Given the description of an element on the screen output the (x, y) to click on. 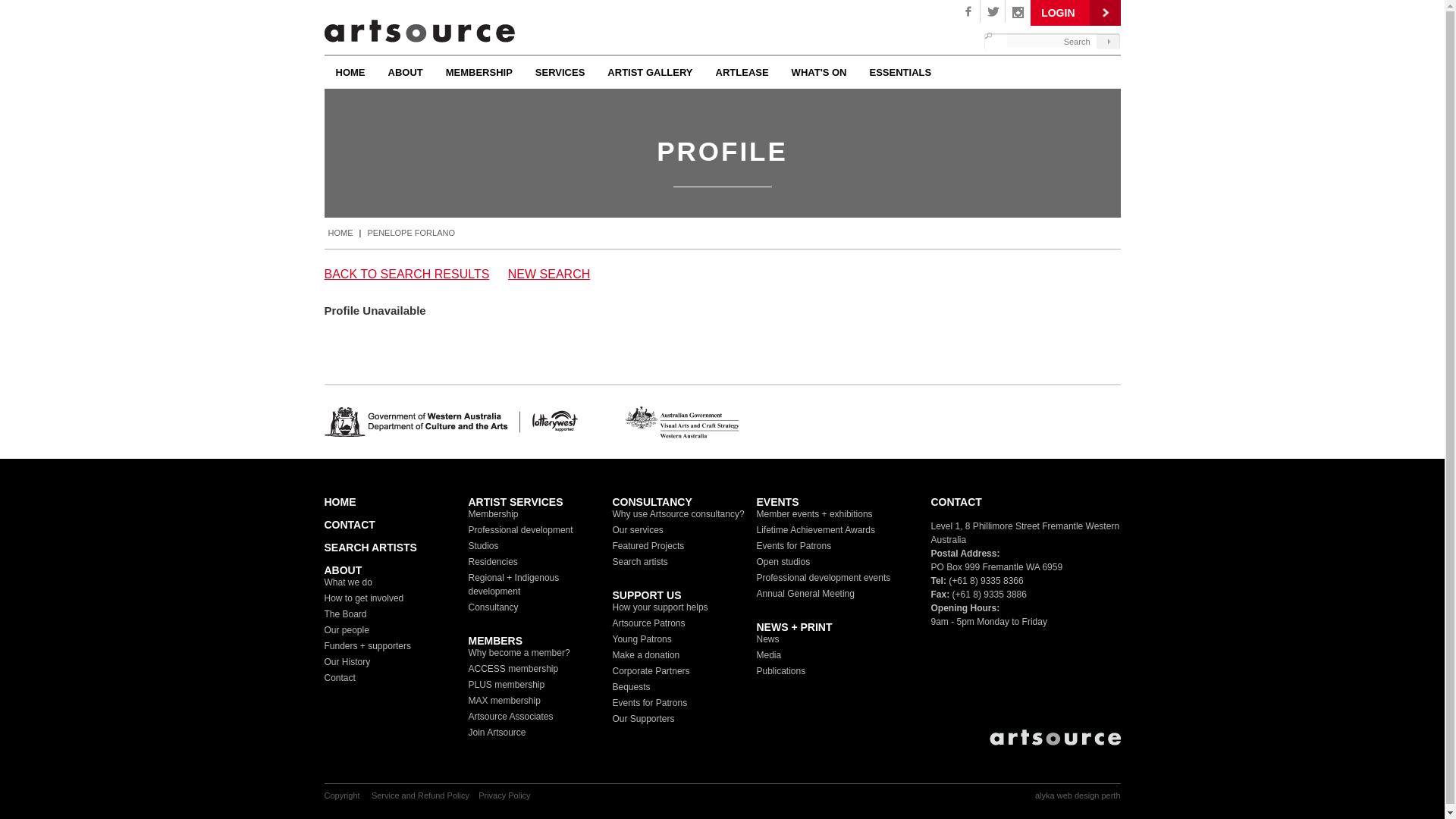
How to get involved Element type: text (364, 598)
Artsource Patrons Element type: text (648, 623)
Linken Element type: text (1017, 11)
Media Element type: text (768, 654)
EVENTS Element type: text (777, 501)
Studios Element type: text (483, 545)
Residencies Element type: text (492, 561)
Our Supporters Element type: text (643, 718)
WHAT'S ON Element type: text (819, 71)
BACK TO SEARCH RESULTS Element type: text (406, 273)
MEMBERSHIP Element type: text (479, 71)
Bequests Element type: text (631, 686)
NEWS + PRINT Element type: text (794, 627)
Join Artsource Element type: text (497, 732)
PLUS membership Element type: text (506, 684)
Professional development events Element type: text (823, 577)
CONTACT Element type: text (956, 501)
The Board Element type: text (345, 613)
ARTLEASE Element type: text (742, 71)
ACCESS membership Element type: text (513, 668)
Featured Projects Element type: text (648, 545)
PENELOPE FORLANO Element type: text (410, 232)
Facebook Element type: text (967, 11)
MAX membership Element type: text (504, 700)
LOGIN Element type: text (1075, 12)
Events for Patrons Element type: text (649, 702)
CONSULTANCY Element type: text (652, 501)
Regional + Indigenous development Element type: text (513, 584)
ARTIST GALLERY Element type: text (649, 71)
Events for Patrons Element type: text (793, 545)
Corporate Partners Element type: text (651, 670)
Our History Element type: text (347, 661)
Service and Refund Policy Element type: text (420, 795)
alyka web design perth Element type: text (1077, 795)
Annual General Meeting Element type: text (805, 593)
What we do Element type: text (348, 582)
NEW SEARCH Element type: text (548, 273)
Twitter Element type: text (992, 11)
SUPPORT US Element type: text (646, 595)
Young Patrons Element type: text (641, 638)
Member events + exhibitions Element type: text (814, 513)
Lifetime Achievement Awards Element type: text (815, 529)
Artsource Associates Element type: text (510, 716)
HOME Element type: text (340, 501)
CONTACT Element type: text (349, 524)
News Element type: text (767, 638)
Privacy Policy Element type: text (504, 795)
Membership Element type: text (493, 513)
ABOUT Element type: text (404, 71)
Consultancy Element type: text (493, 607)
HOME Element type: text (340, 232)
Funders + supporters Element type: text (367, 645)
Professional development Element type: text (520, 529)
SEARCH ARTISTS Element type: text (370, 547)
Copyright Element type: text (343, 795)
HOME Element type: text (350, 71)
ARTIST SERVICES Element type: text (515, 501)
MEMBERS Element type: text (495, 640)
SERVICES Element type: text (560, 71)
ABOUT Element type: text (343, 570)
Our people Element type: text (346, 629)
Open studios Element type: text (783, 561)
Why use Artsource consultancy? Element type: text (678, 513)
How your support helps Element type: text (660, 607)
Our services Element type: text (637, 529)
Contact Element type: text (339, 677)
Make a donation Element type: text (646, 654)
Publications Element type: text (781, 670)
Why become a member? Element type: text (519, 652)
Search artists Element type: text (640, 561)
ESSENTIALS Element type: text (900, 71)
